Given the description of an element on the screen output the (x, y) to click on. 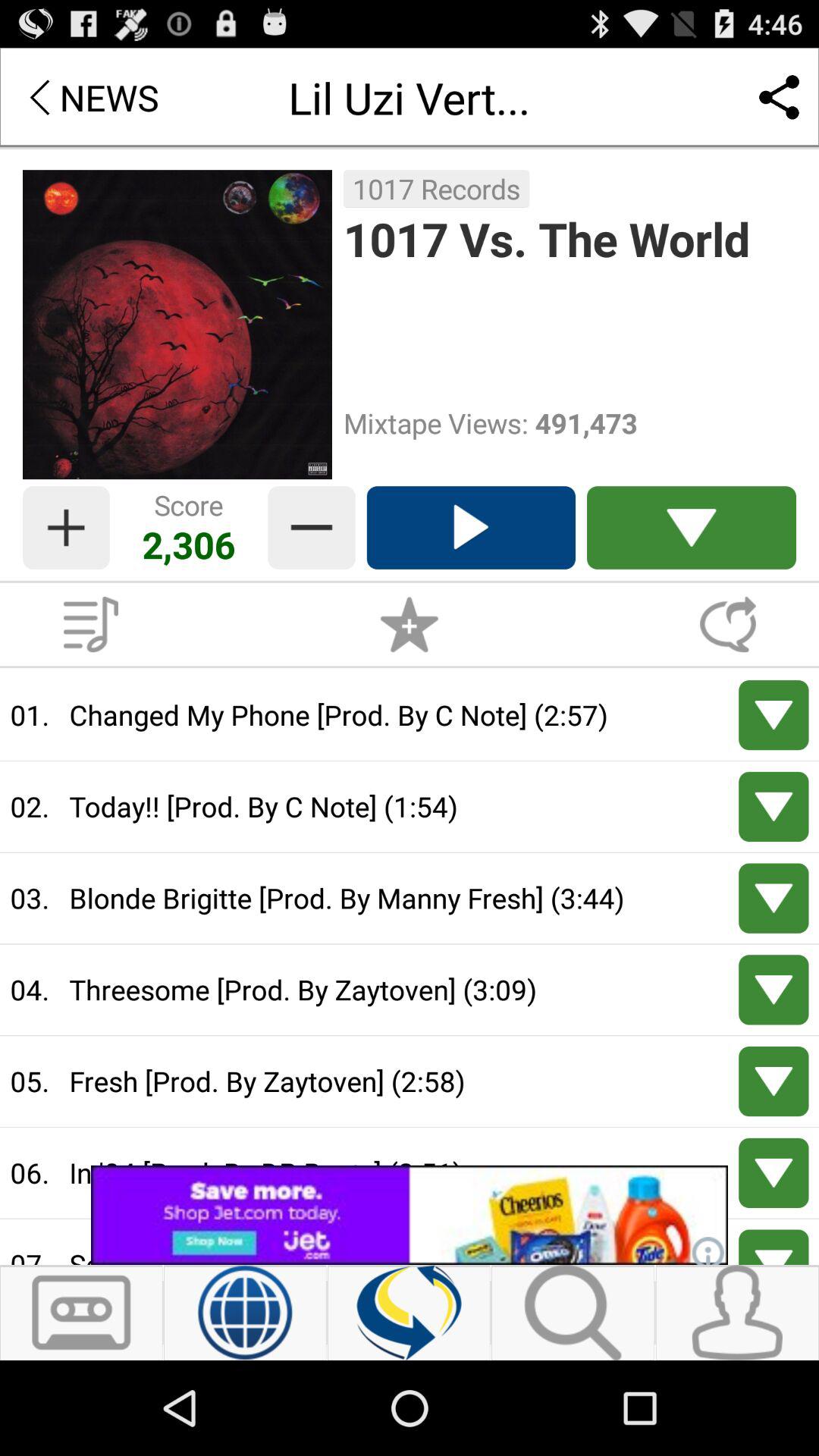
select score botton (409, 624)
